Given the description of an element on the screen output the (x, y) to click on. 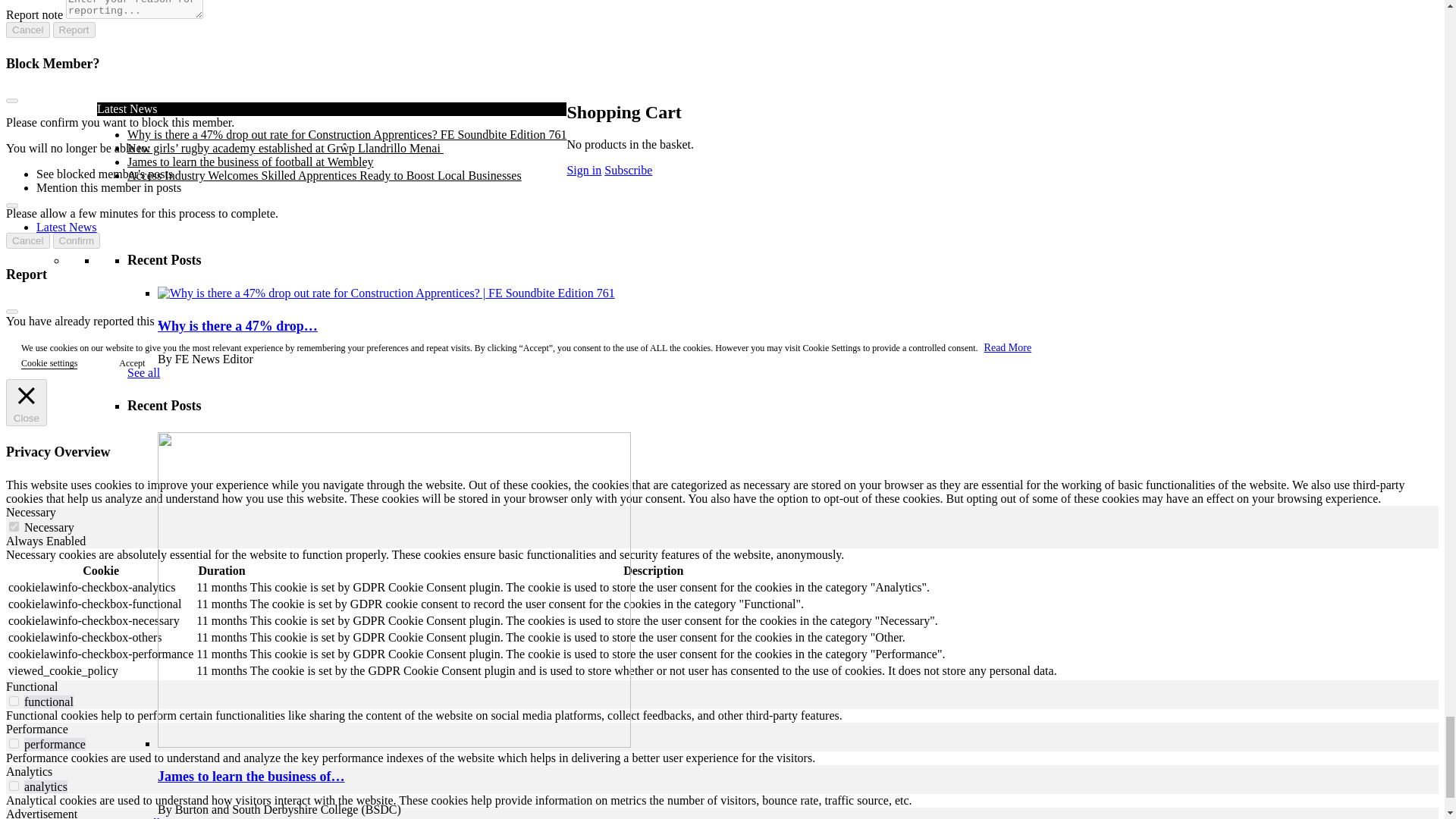
on (13, 526)
on (13, 743)
Cancel (27, 29)
Cancel (27, 240)
on (13, 786)
on (13, 700)
